Given the description of an element on the screen output the (x, y) to click on. 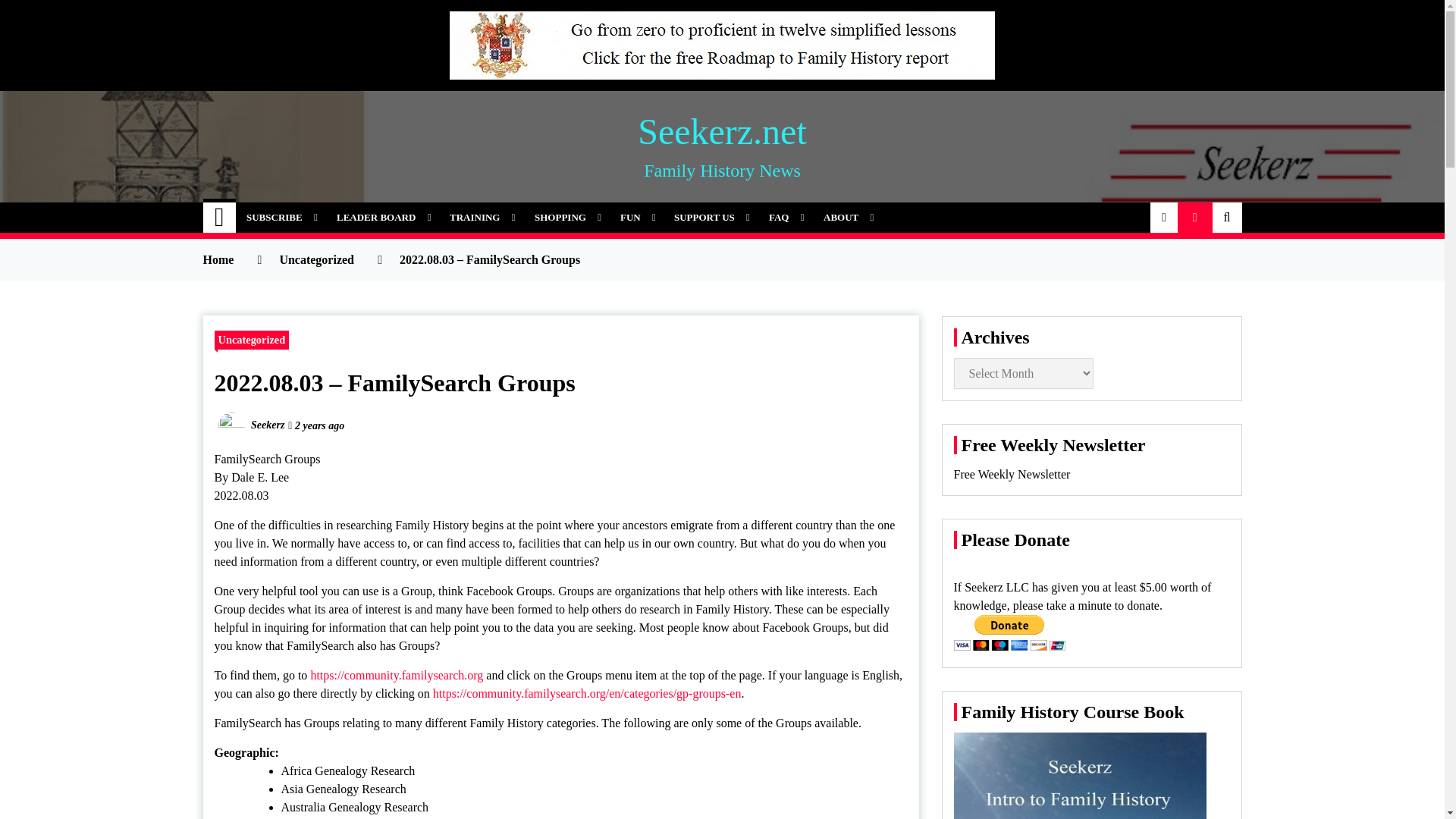
SUBSCRIBE (279, 217)
TRAINING (480, 217)
LEADER BOARD (381, 217)
FUN (635, 217)
PayPal - The safer, easier way to pay online! (1009, 632)
Home (219, 217)
SHOPPING (565, 217)
Seekerz.net (721, 131)
